Given the description of an element on the screen output the (x, y) to click on. 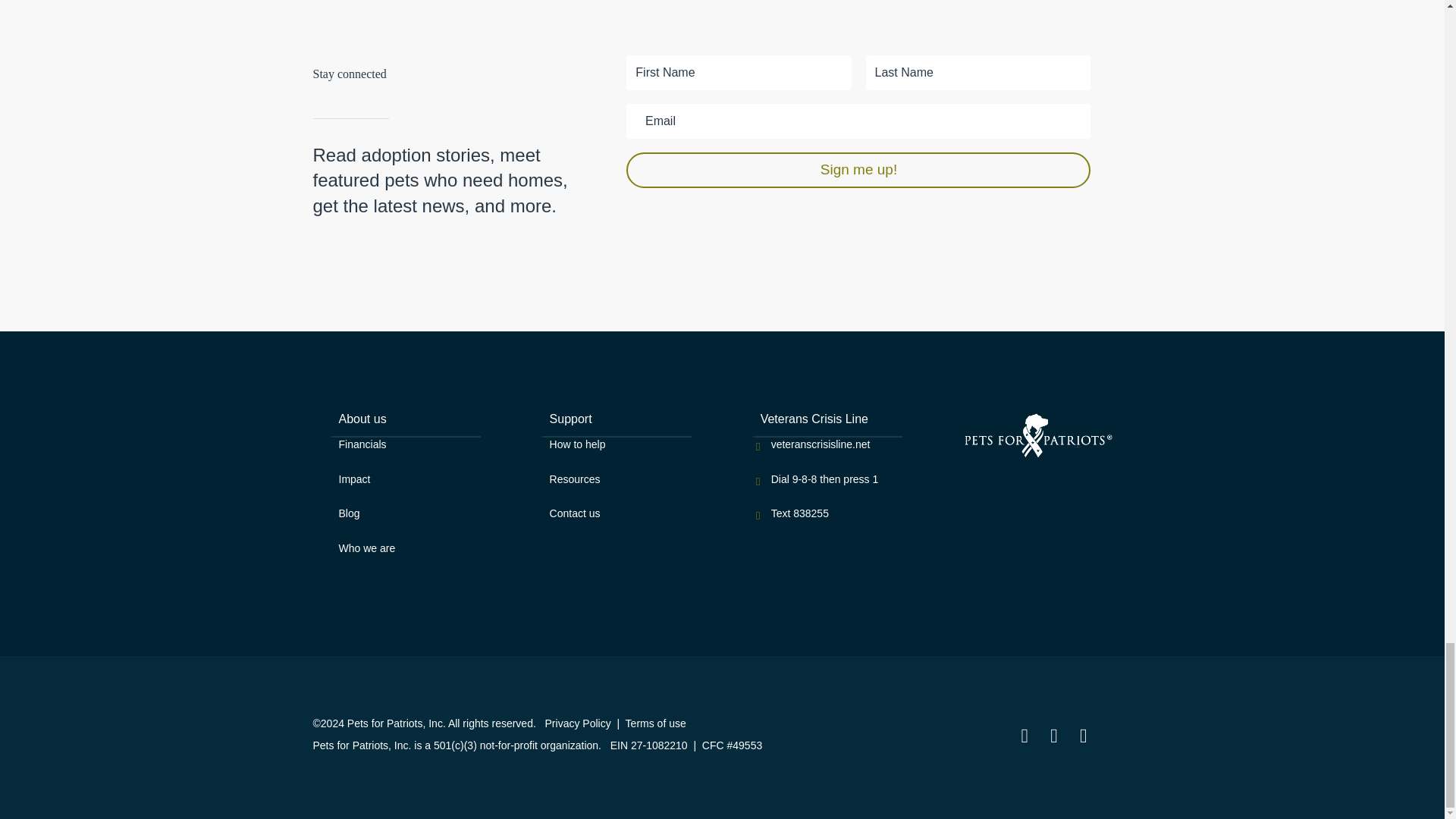
pets-for-patriots-logo-without-tag-white (1038, 436)
